Given the description of an element on the screen output the (x, y) to click on. 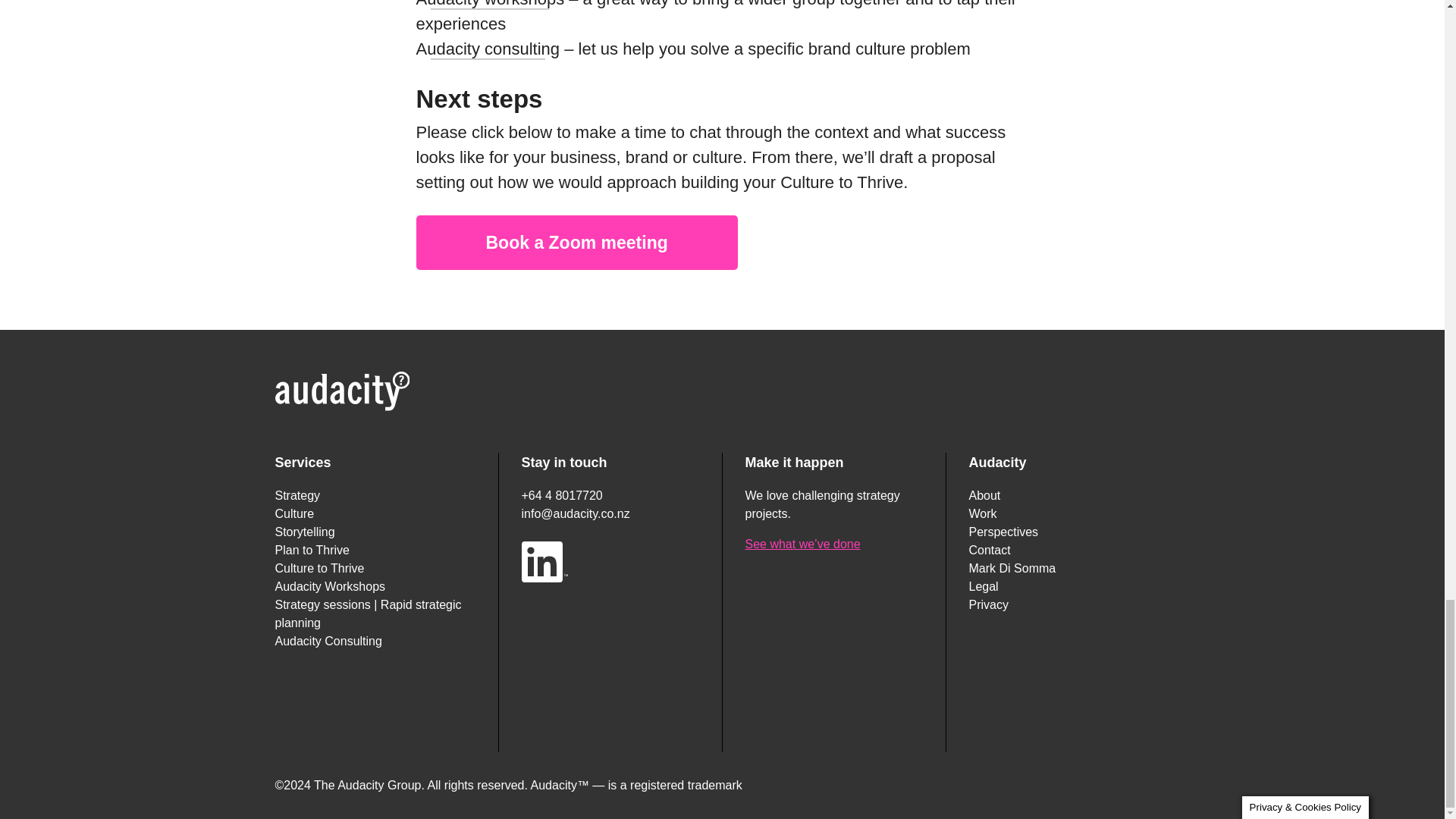
Audacity workshops (489, 7)
Book a Zoom meeting (575, 242)
Plan to Thrive (312, 549)
Audacity Workshops (330, 585)
Audacity consulting (486, 52)
Culture to Thrive (319, 567)
Strategy (297, 495)
About (985, 495)
Culture (294, 513)
Legal (983, 585)
Mark Di Somma (1013, 567)
Perspectives (1004, 531)
Audacity Consulting (328, 640)
Work (983, 513)
Storytelling (304, 531)
